Given the description of an element on the screen output the (x, y) to click on. 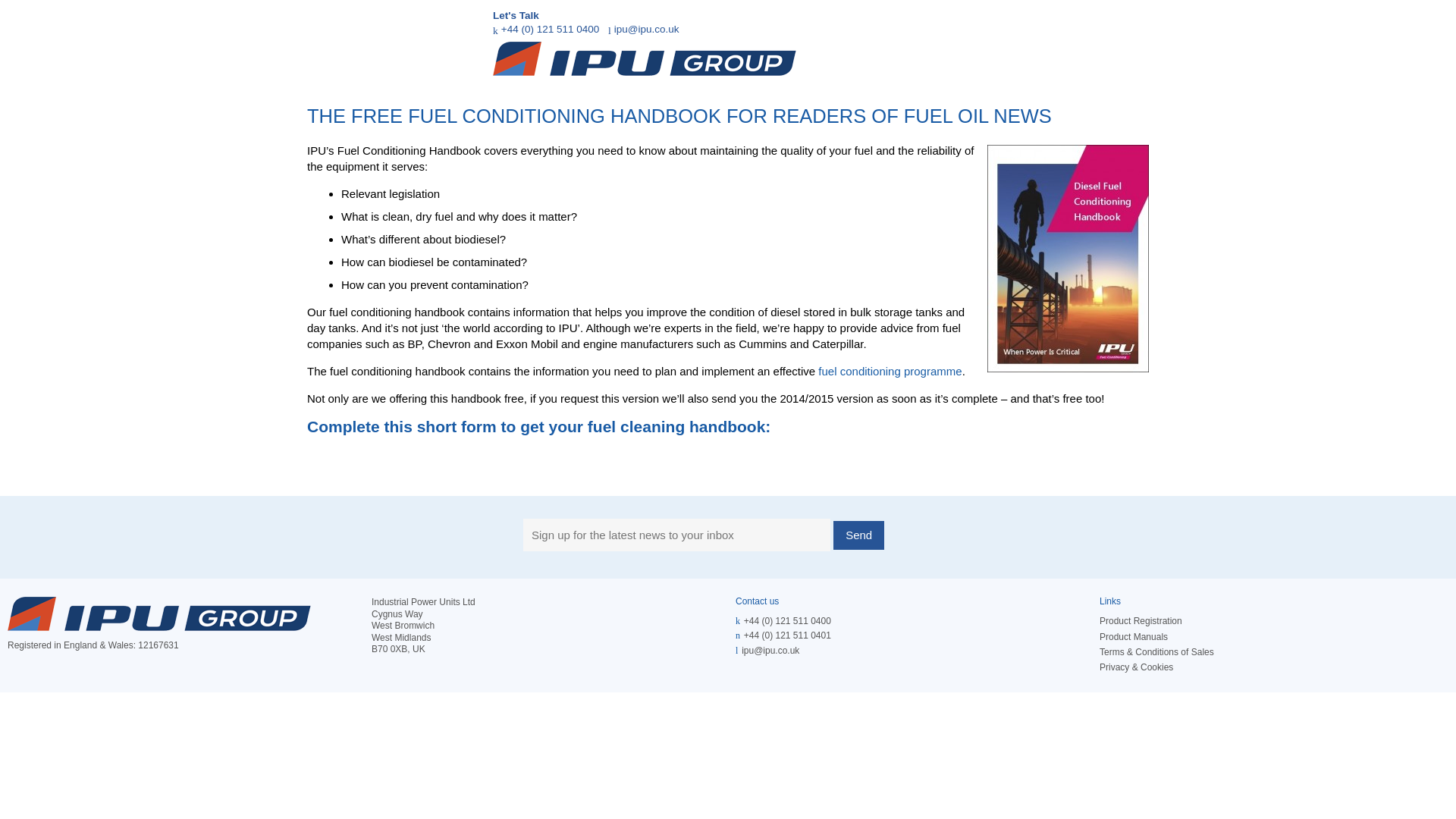
Fuel Maintenance Programmes (889, 370)
Send (857, 534)
IPU Group (159, 613)
Call us (787, 620)
Email (770, 650)
Call us (545, 29)
IPU Group (644, 58)
Email (643, 29)
